Given the description of an element on the screen output the (x, y) to click on. 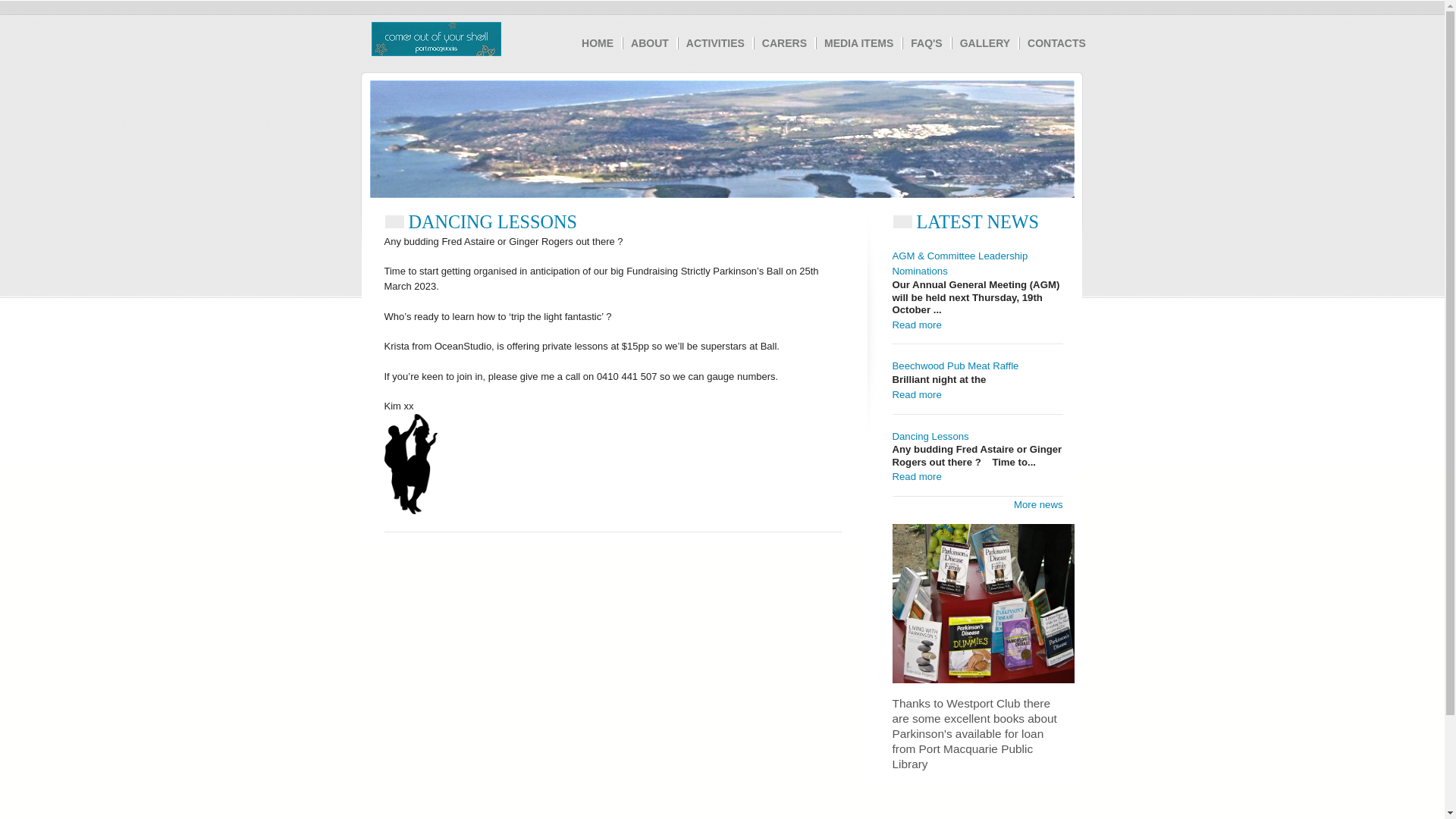
MEDIA ITEMS Element type: text (858, 43)
CARERS Element type: text (784, 43)
ABOUT Element type: text (649, 43)
HOME Element type: text (597, 43)
ACTIVITIES Element type: text (715, 43)
Read more Element type: text (916, 476)
Home Element type: hover (436, 49)
Read more Element type: text (916, 324)
Read more Element type: text (916, 394)
More news Element type: text (1038, 504)
CONTACTS Element type: text (1056, 43)
GALLERY Element type: text (985, 43)
AGM & Committee Leadership Nominations Element type: text (959, 263)
FAQ'S Element type: text (925, 43)
Dancing Lessons Element type: text (929, 436)
Beechwood Pub Meat Raffle Element type: text (954, 365)
